Given the description of an element on the screen output the (x, y) to click on. 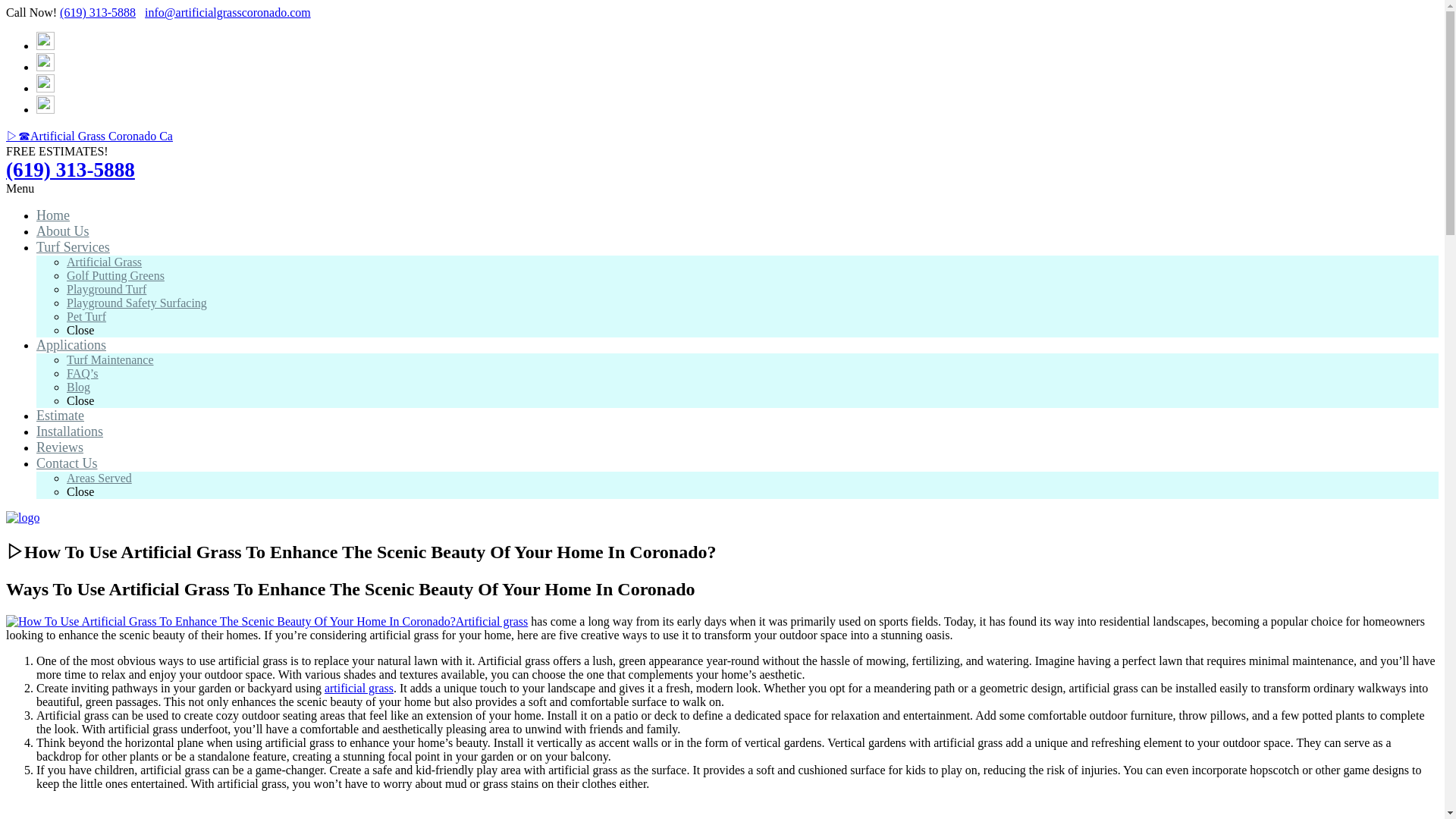
Turf Services (73, 246)
Playground Turf (106, 288)
Blog (78, 386)
Playground Safety Surfacing (136, 302)
About Us (62, 231)
Artificial Grass (103, 261)
Contact Us (66, 462)
Golf Putting Greens (115, 275)
Facebook (45, 45)
YouTube (45, 109)
